Given the description of an element on the screen output the (x, y) to click on. 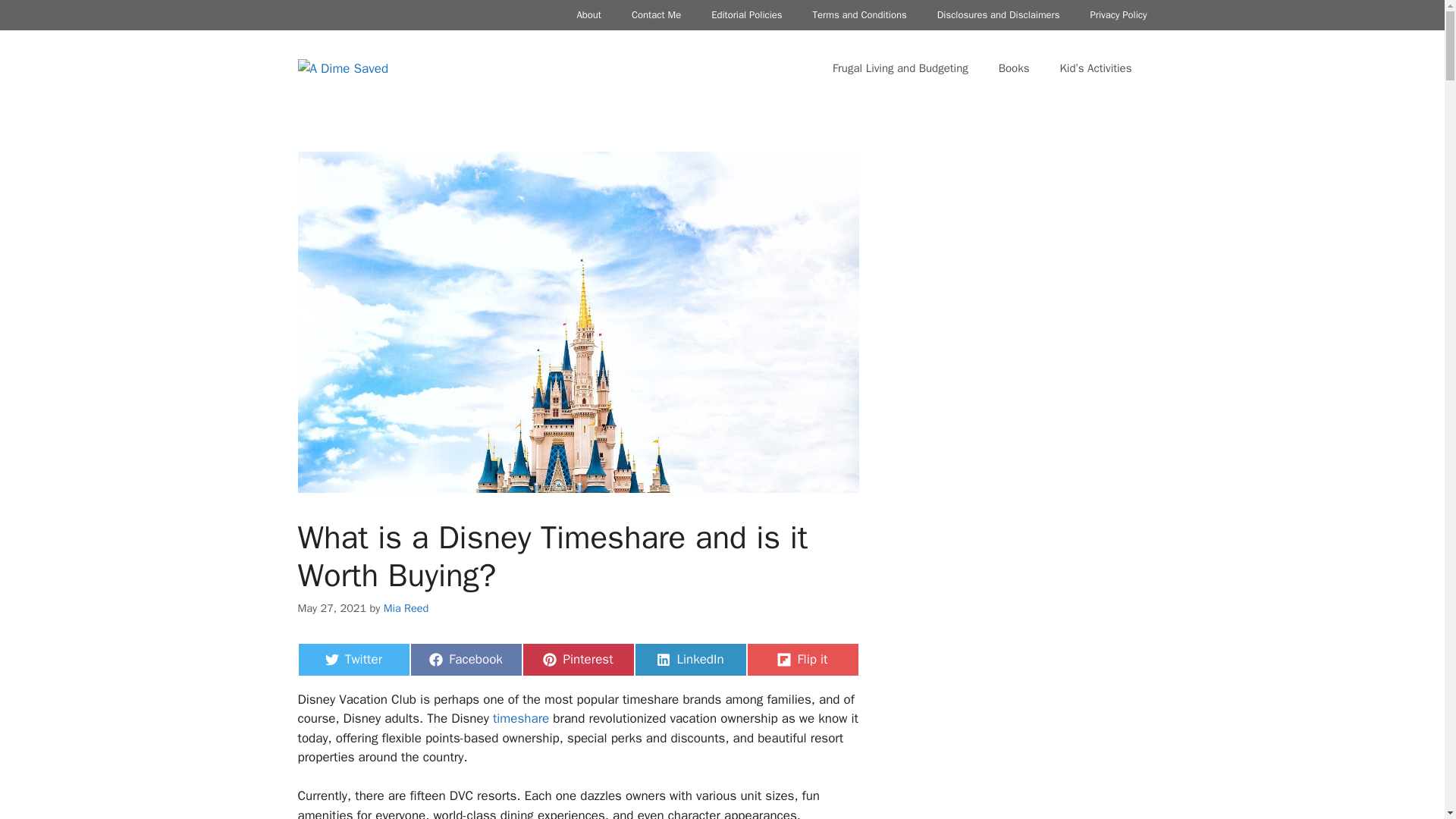
timeshare (353, 659)
Disclosures and Disclaimers (518, 718)
Terms and Conditions (998, 15)
Contact Me (859, 15)
Books (655, 15)
What is a Disney Timeshare and is it Worth Buying? 1 (577, 659)
Editorial Policies (1014, 67)
View all posts by Mia Reed (465, 659)
About (745, 15)
Privacy Policy (406, 608)
